Given the description of an element on the screen output the (x, y) to click on. 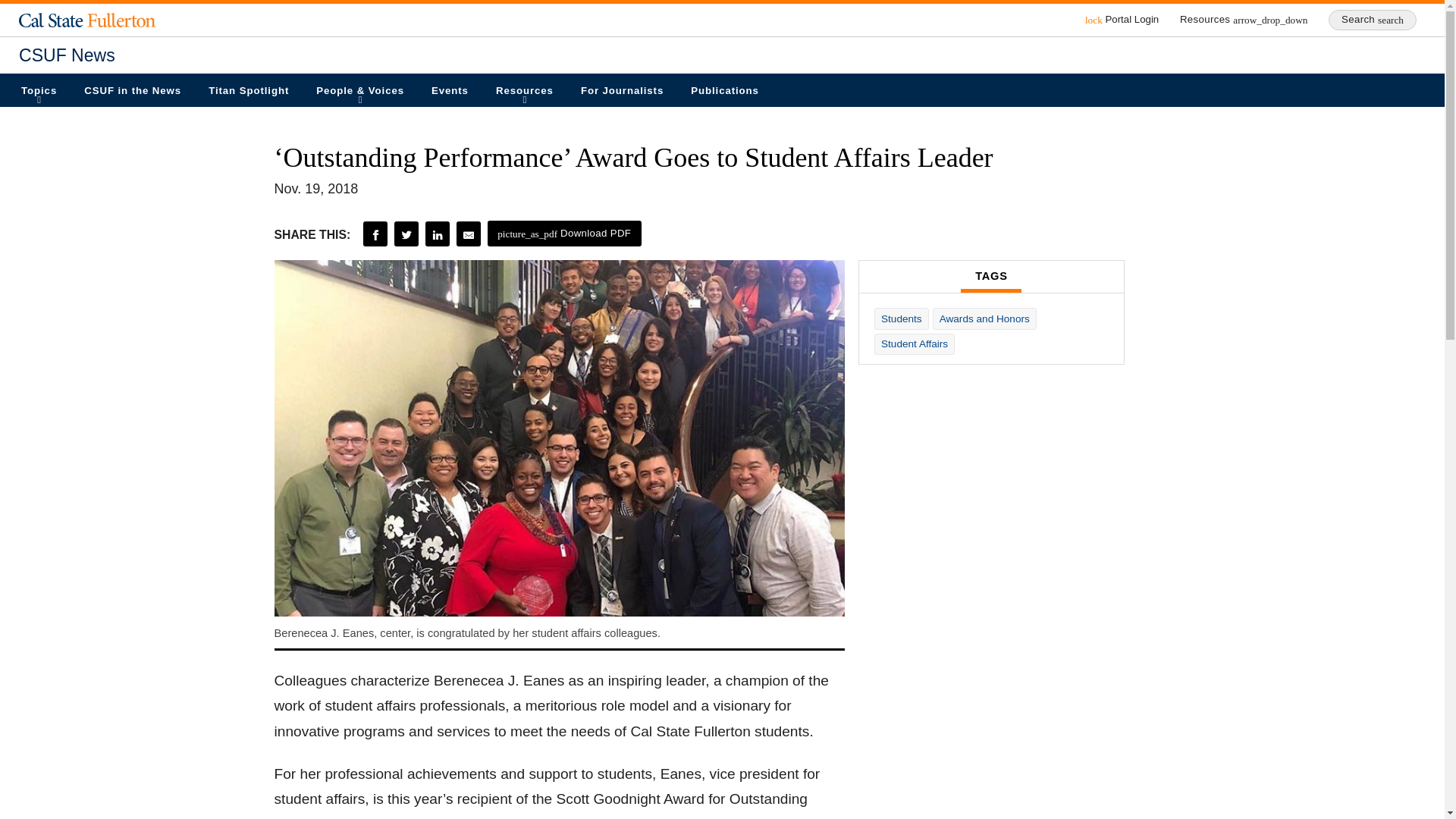
Share this via LinkedIn (437, 233)
Students Tag (901, 318)
Awards and Honors Tag (984, 318)
CSUF News (721, 55)
Resources (524, 90)
CSUF in the News (132, 90)
Search search (1371, 19)
Student Affairs Tag (915, 343)
Topics (38, 90)
lock Portal Login (1121, 19)
Share this via Facebook (374, 233)
Share this via Twitter (406, 233)
Publications (724, 90)
Share this via Email (468, 233)
For Journalists (621, 90)
